Given the description of an element on the screen output the (x, y) to click on. 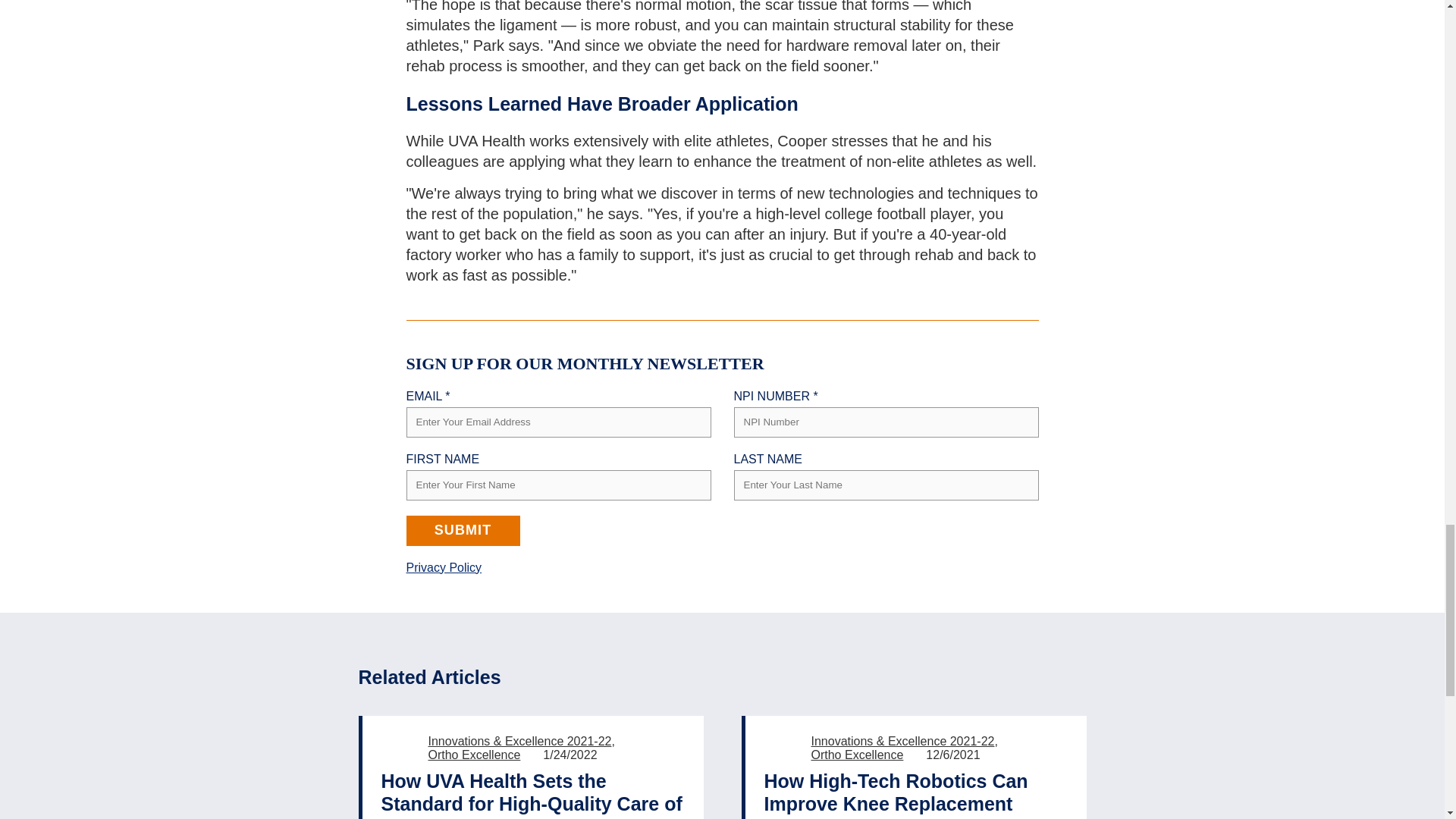
Ortho Excellence (857, 754)
Ortho Excellence (473, 754)
NPI Number (886, 422)
Submit (462, 530)
Last Name (886, 485)
Submit (462, 530)
First Name (558, 485)
How High-Tech Robotics Can Improve Knee Replacement Success (915, 794)
Privacy Policy (443, 567)
